Given the description of an element on the screen output the (x, y) to click on. 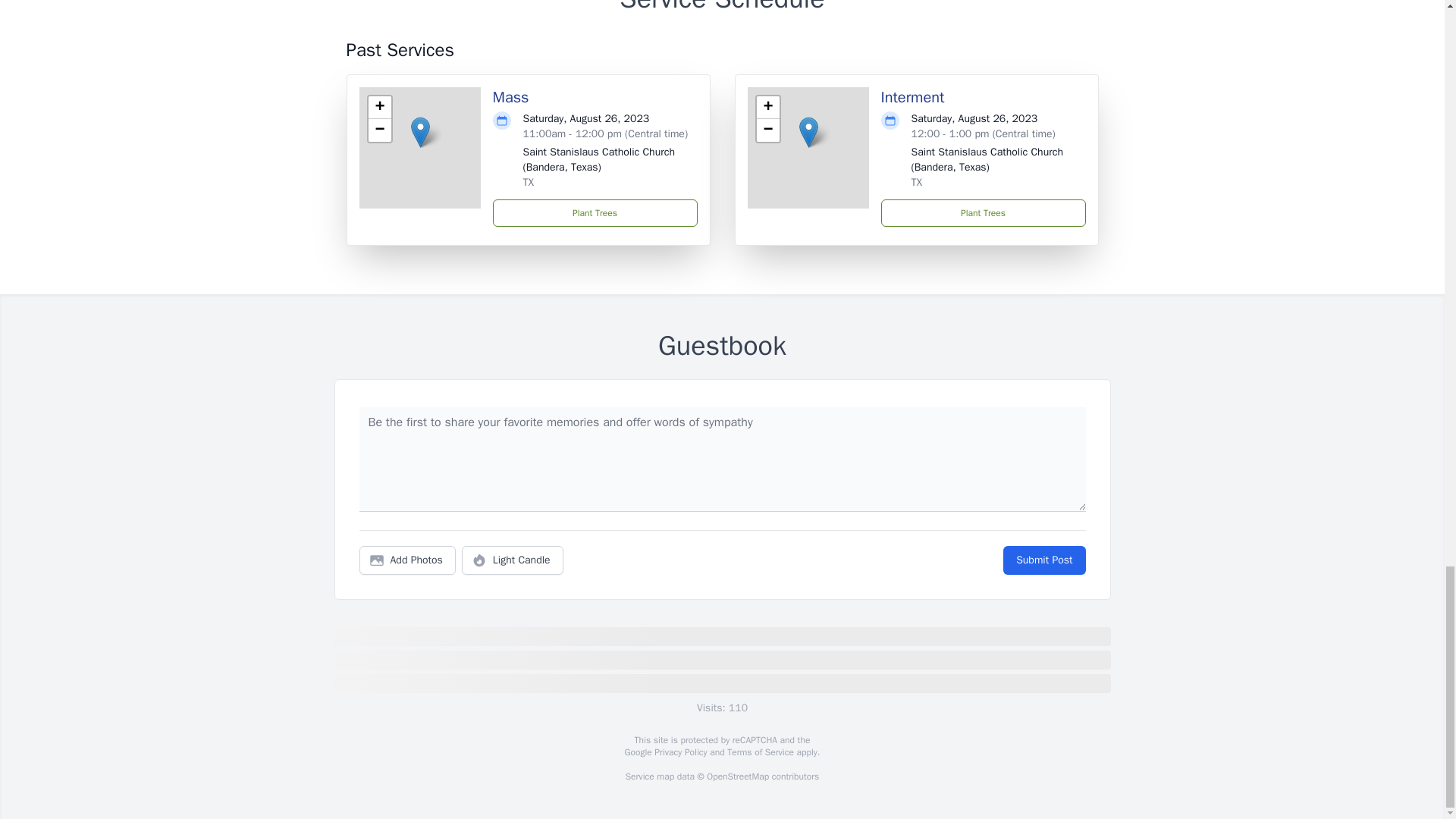
Terms of Service (759, 752)
Light Candle (512, 560)
Zoom in (767, 107)
Plant Trees (595, 212)
TX (528, 182)
Add Photos (407, 560)
Zoom out (767, 129)
Zoom out (379, 129)
Privacy Policy (679, 752)
Submit Post (1043, 560)
Zoom in (379, 107)
Plant Trees (983, 212)
TX (917, 182)
OpenStreetMap (737, 776)
